Given the description of an element on the screen output the (x, y) to click on. 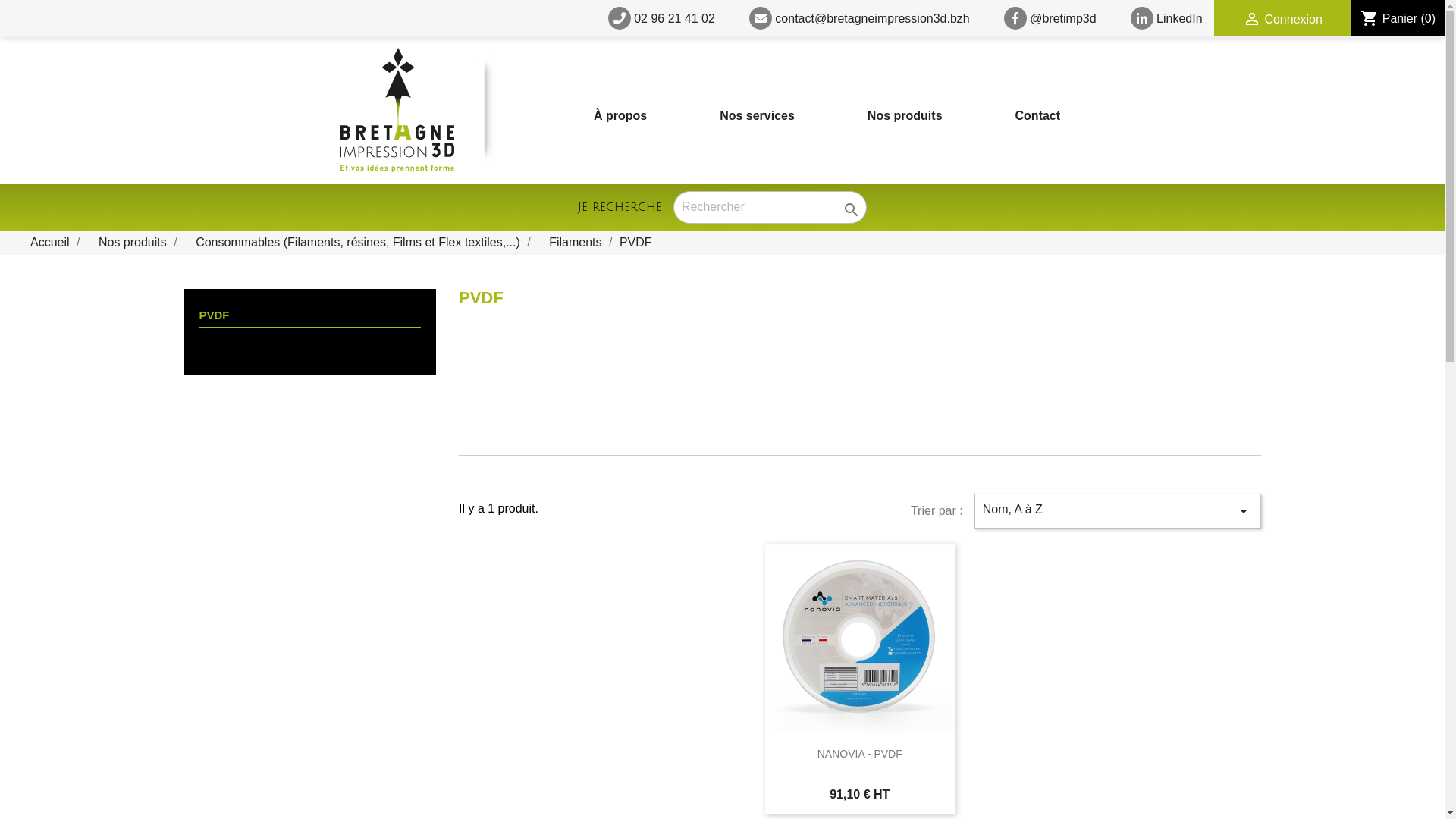
Filaments Element type: text (577, 241)
Nos produits Element type: text (133, 241)
Contact Element type: text (1037, 115)
contact@bretagneimpression3d.bzh Element type: text (859, 18)
Nos produits Element type: text (904, 115)
LinkedIn Element type: text (1166, 18)
Nos services Element type: text (756, 115)
02 96 21 41 02 Element type: text (661, 18)
NANOVIA - PVDF Element type: text (859, 753)
Accueil Element type: text (51, 241)
PVDF Element type: text (309, 318)
PVDF Element type: text (635, 241)
@bretimp3d Element type: text (1050, 18)
